Given the description of an element on the screen output the (x, y) to click on. 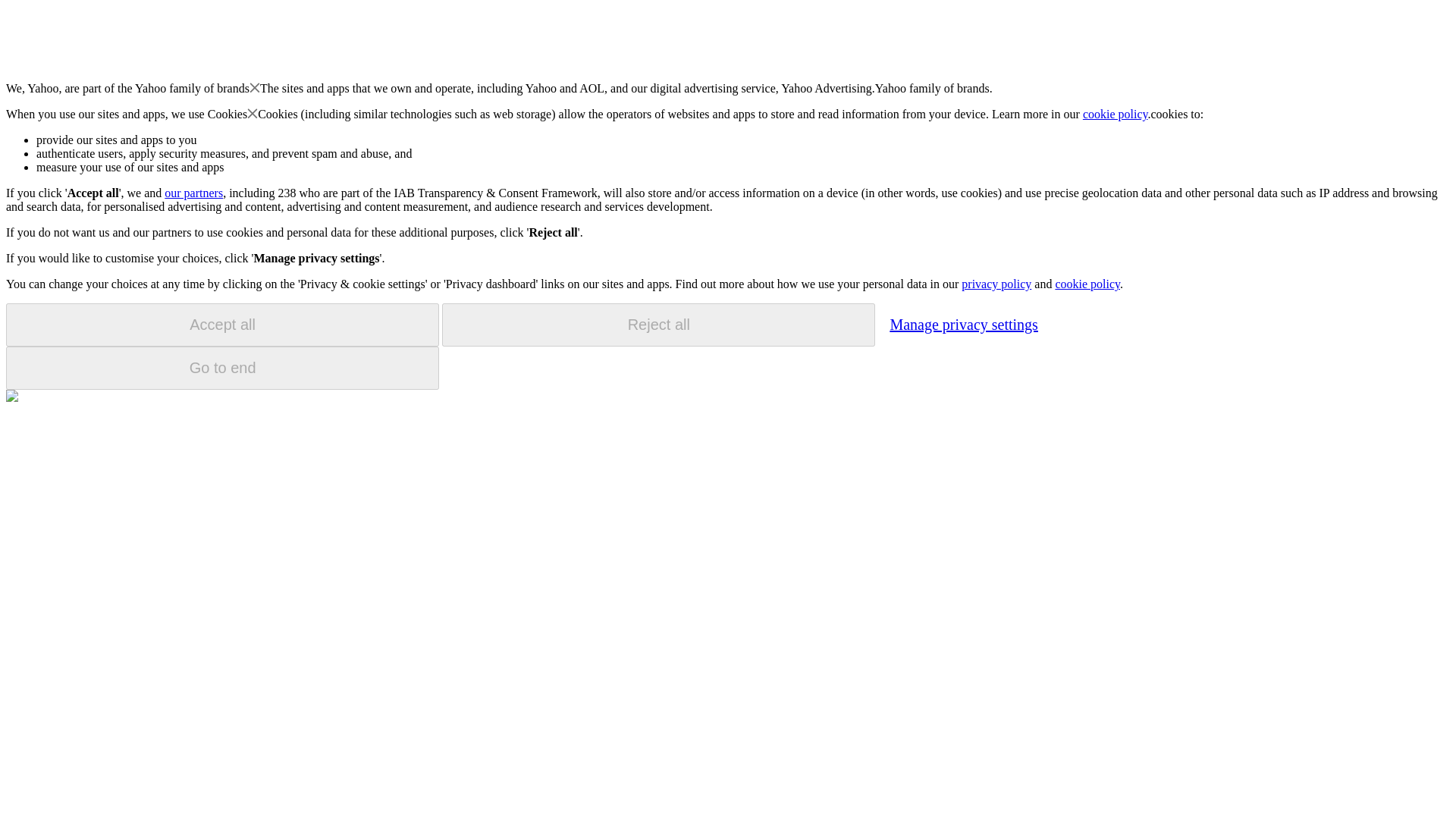
Manage privacy settings (963, 323)
Accept all (222, 324)
cookie policy (1086, 283)
our partners (193, 192)
privacy policy (995, 283)
Go to end (222, 367)
cookie policy (1115, 113)
Reject all (658, 324)
